Given the description of an element on the screen output the (x, y) to click on. 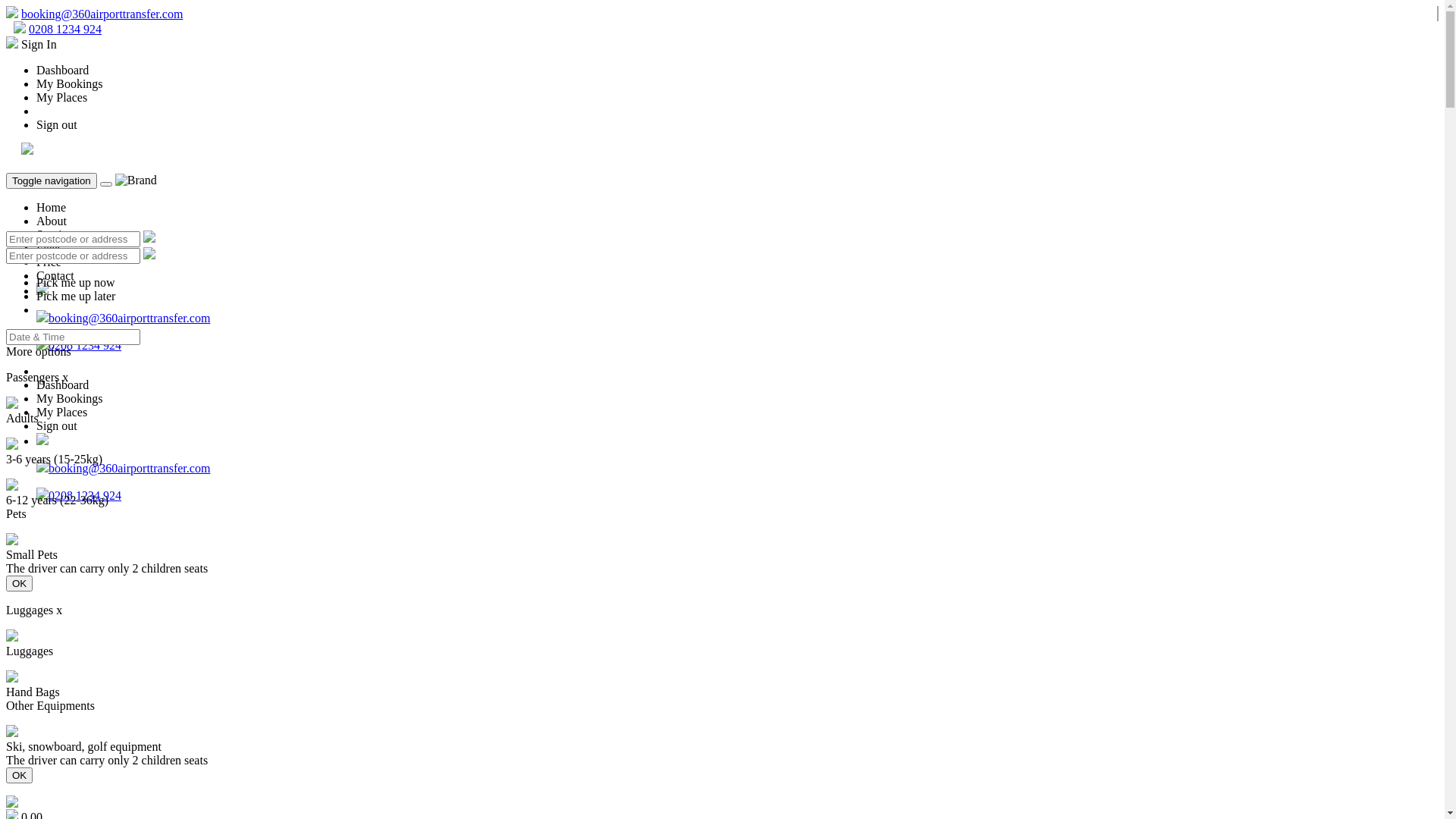
Dashboard Element type: text (62, 69)
My Places Element type: text (61, 411)
About Element type: text (51, 220)
booking@360airporttransfer.com Element type: text (129, 317)
Pick me up now Element type: text (75, 282)
Price Element type: text (48, 261)
My Bookings Element type: text (69, 83)
0208 1234 924 Element type: text (84, 495)
0208 1234 924 Element type: text (84, 344)
My Bookings Element type: text (69, 398)
Pick me up later Element type: text (75, 295)
Fleet Element type: text (48, 247)
Contact Element type: text (55, 275)
Sign out Element type: text (56, 425)
Services Element type: text (56, 234)
Pick me up now Element type: text (737, 282)
Sign In Element type: text (31, 43)
Pick me up later Element type: text (737, 296)
0208 1234 924 Element type: text (64, 28)
Toggle navigation Element type: text (51, 180)
My Places Element type: text (61, 97)
booking@360airporttransfer.com Element type: text (129, 467)
OK Element type: text (19, 775)
booking@360airporttransfer.com Element type: text (101, 13)
Home Element type: text (50, 206)
OK Element type: text (19, 583)
Dashboard Element type: text (62, 384)
Sign out Element type: text (56, 124)
